Given the description of an element on the screen output the (x, y) to click on. 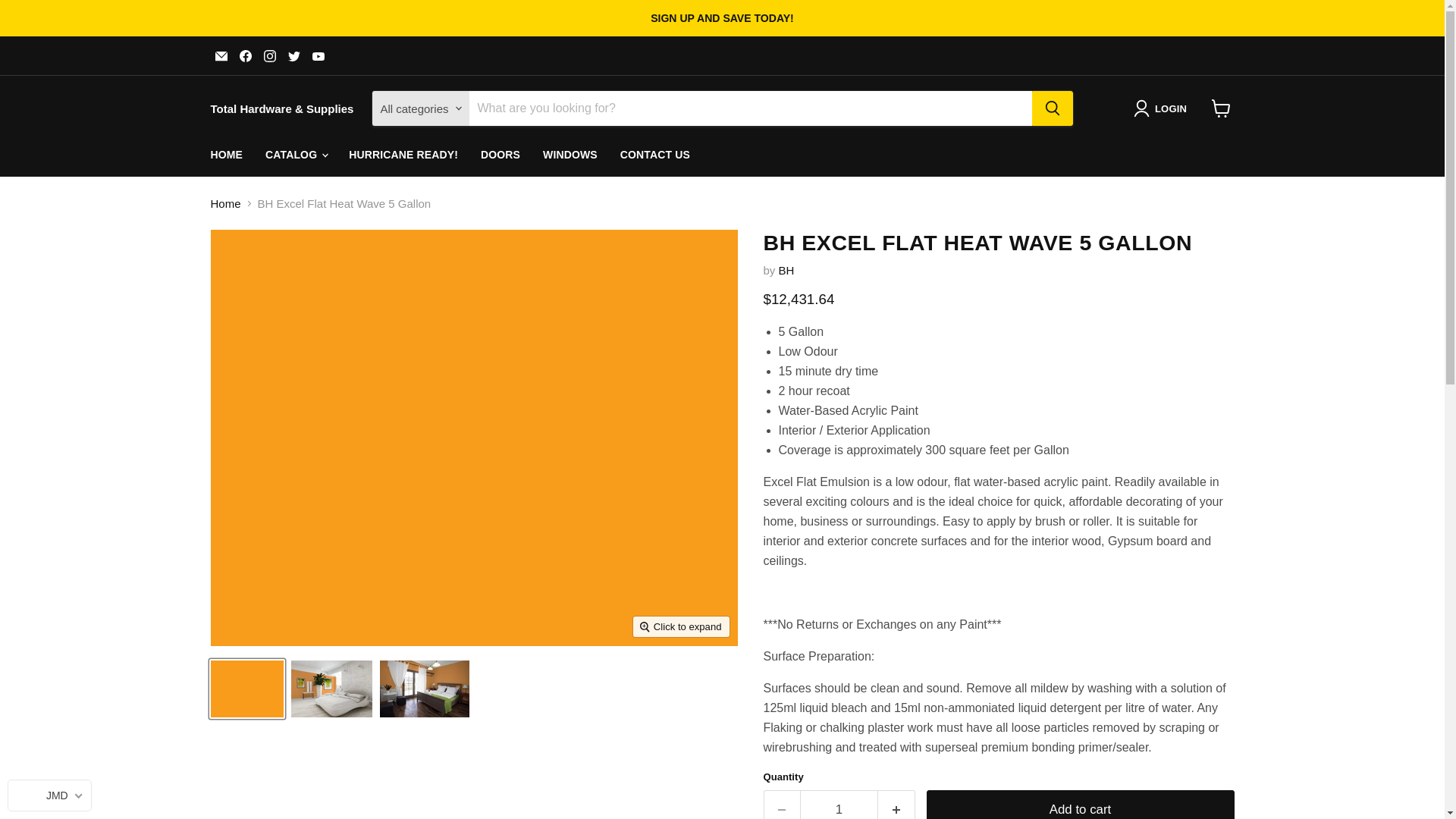
LOGIN (1163, 108)
Email (221, 55)
Find us on Instagram (270, 55)
HOME (225, 154)
Find us on Facebook (245, 55)
YouTube (318, 55)
View cart (1221, 108)
Twitter (293, 55)
1 (838, 804)
Facebook (245, 55)
